Given the description of an element on the screen output the (x, y) to click on. 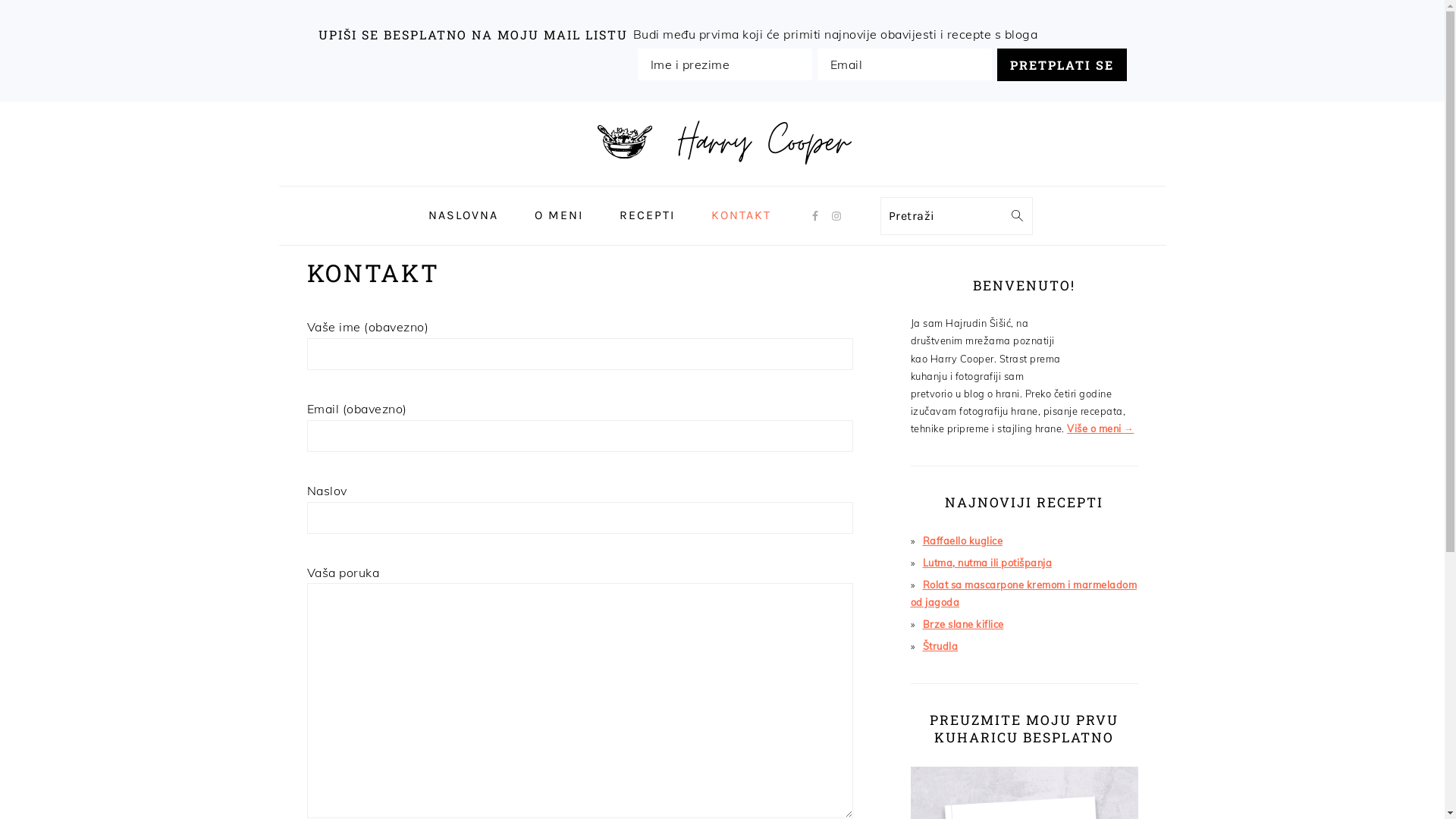
Raffaello kuglice Element type: text (962, 540)
Skip to primary navigation Element type: text (0, 101)
O MENI Element type: text (558, 215)
Recepti za gastro momente - Harry Cooper Element type: hover (722, 174)
Pretplati se Element type: text (1061, 64)
KONTAKT Element type: text (740, 215)
Brze slane kiflice Element type: text (962, 624)
RECEPTI Element type: text (646, 215)
NASLOVNA Element type: text (463, 215)
Rolat sa mascarpone kremom i marmeladom od jagoda Element type: text (1023, 593)
Recepti za gastro momente - Harry Cooper Element type: hover (722, 133)
